Given the description of an element on the screen output the (x, y) to click on. 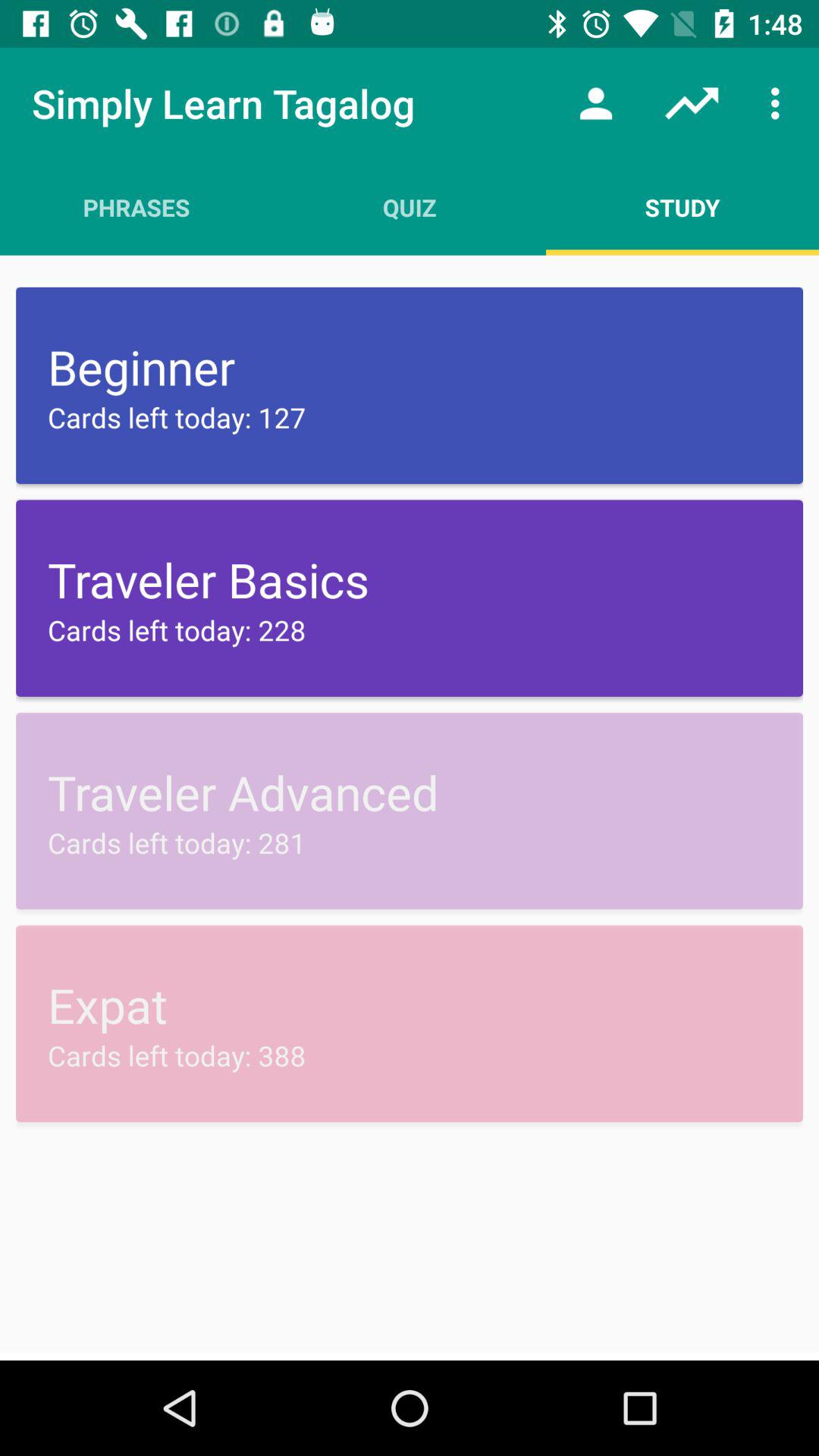
click on third box (409, 810)
click on voilet color option (409, 598)
click on the button beginner (409, 384)
go to option right side of quiz (682, 207)
